Given the description of an element on the screen output the (x, y) to click on. 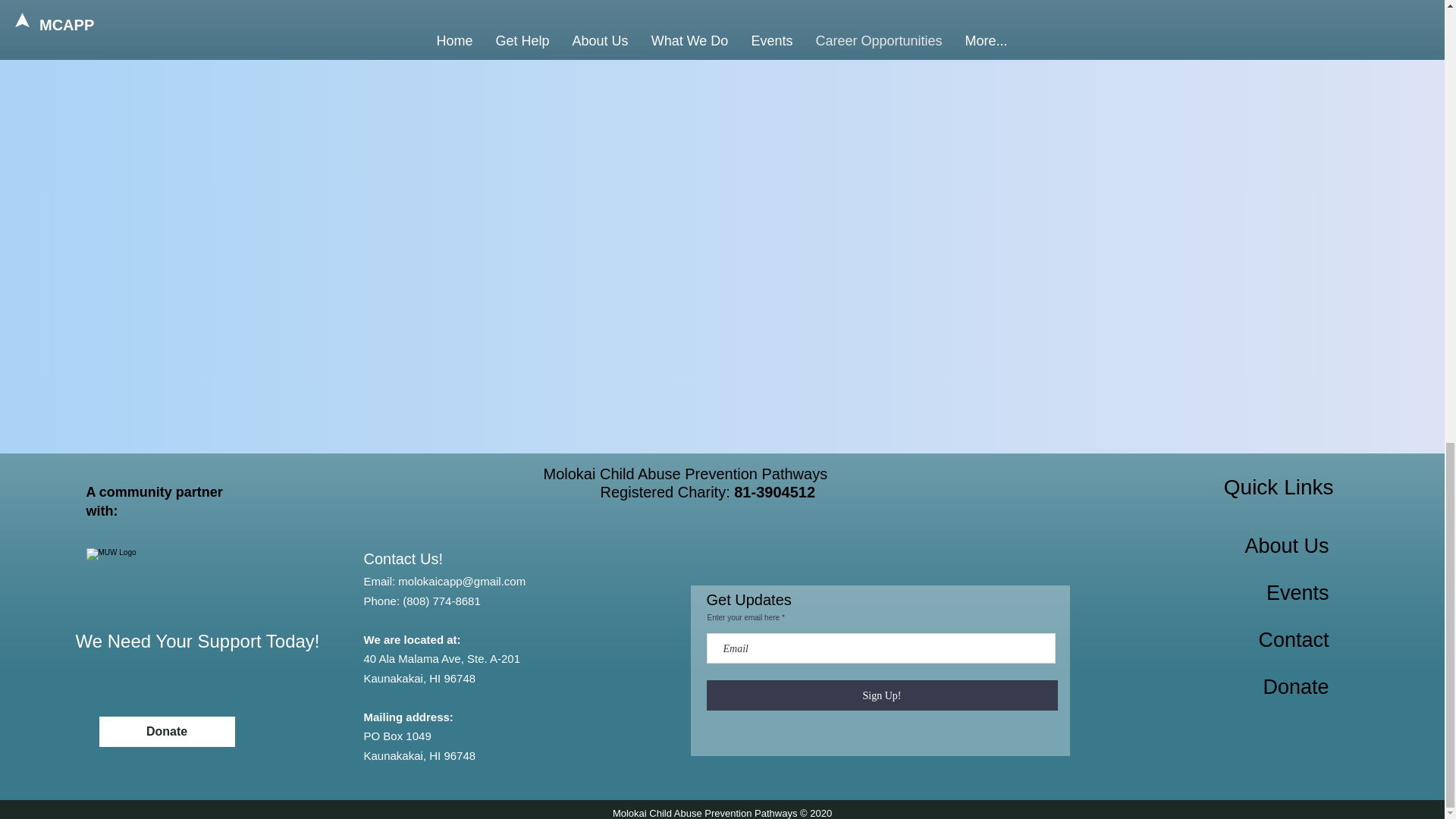
Sign Up! (882, 695)
Donate (1294, 686)
Events (1297, 592)
About Us (1285, 545)
Donate (166, 731)
Contact (1292, 639)
